Given the description of an element on the screen output the (x, y) to click on. 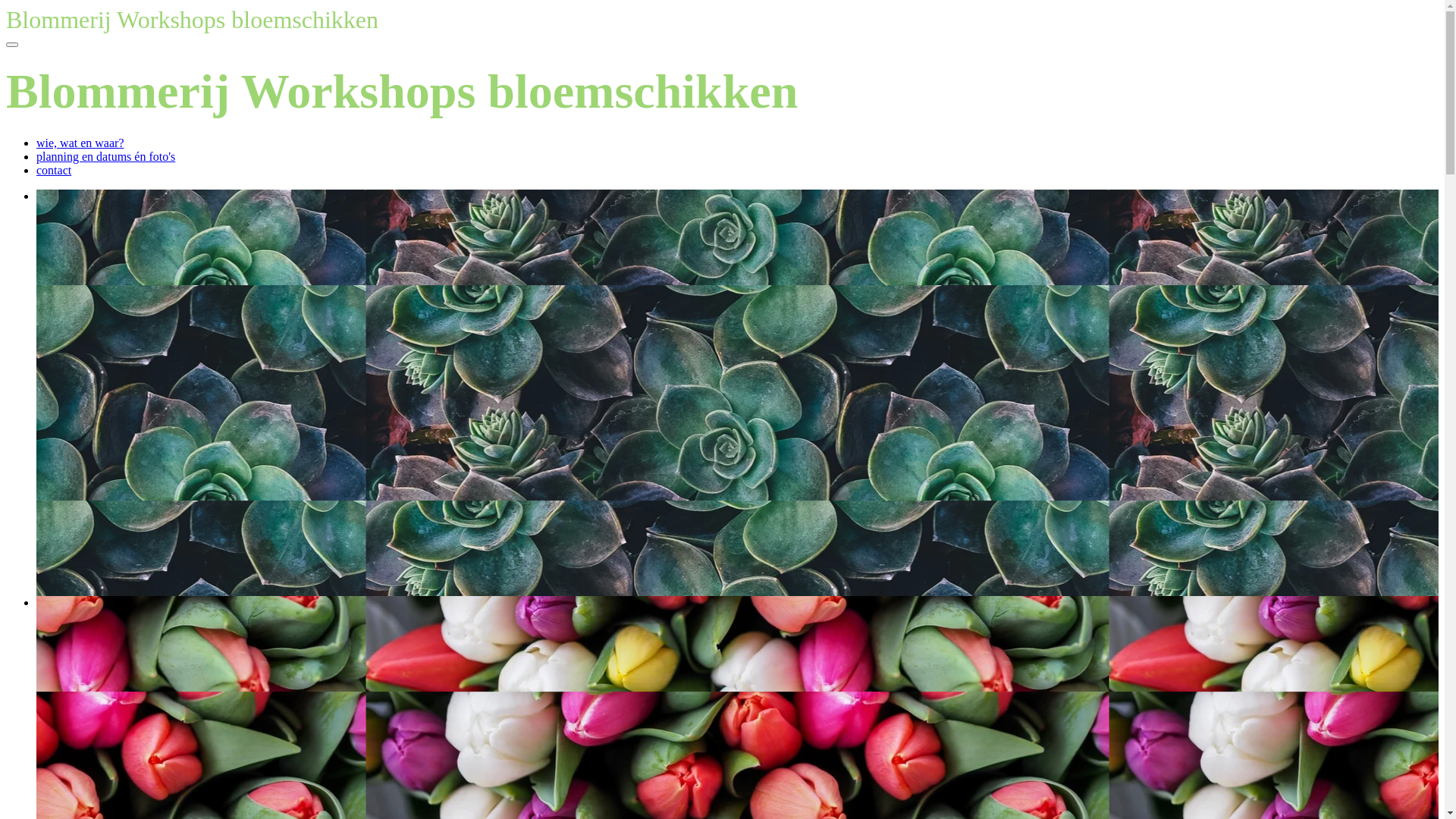
contact Element type: text (53, 169)
wie, wat en waar? Element type: text (80, 142)
